Given the description of an element on the screen output the (x, y) to click on. 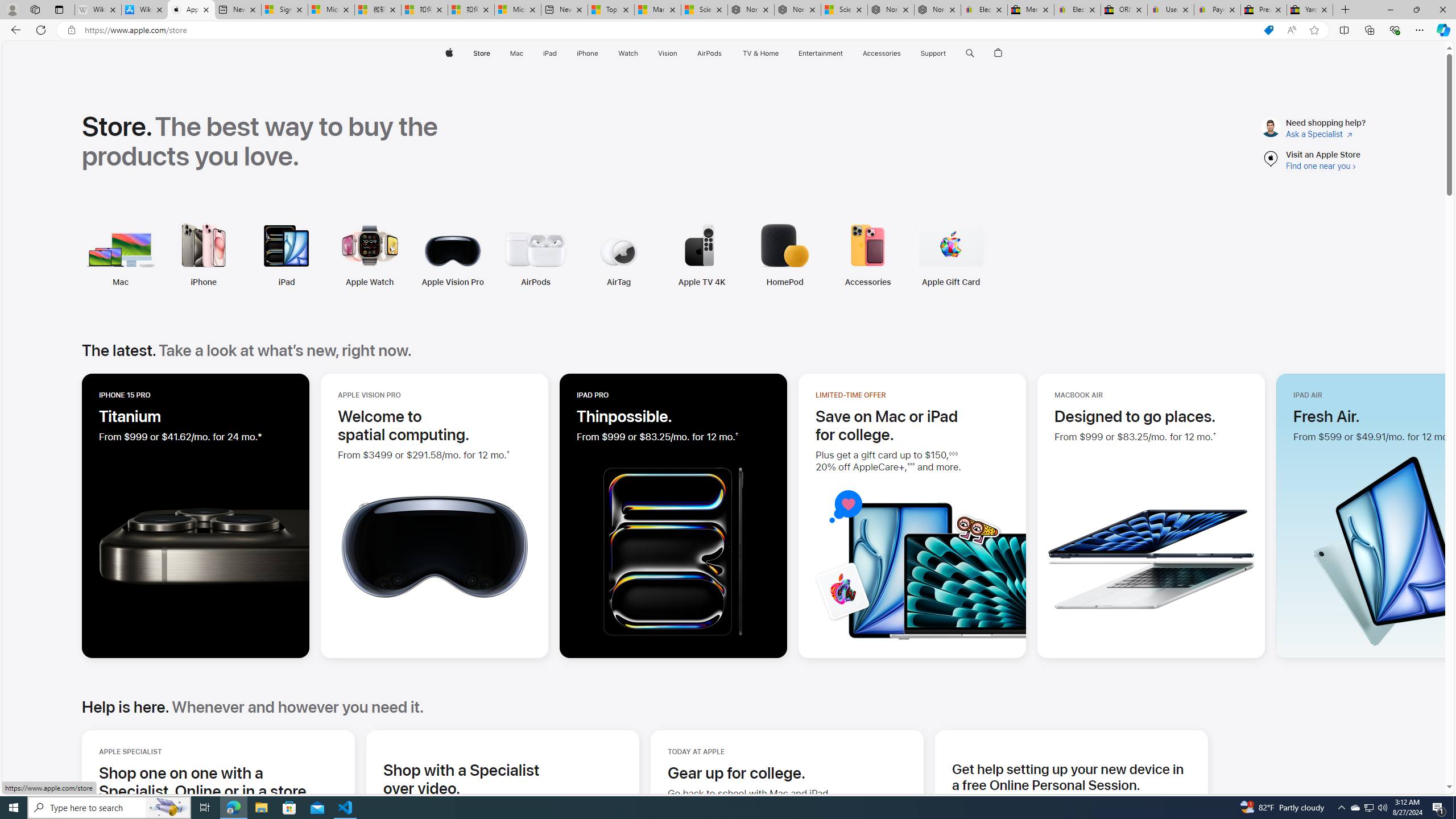
Support (932, 53)
Store menu (492, 53)
TV and Home (759, 53)
HomePod (707, 254)
iPhone menu (600, 53)
Vision (667, 53)
